Given the description of an element on the screen output the (x, y) to click on. 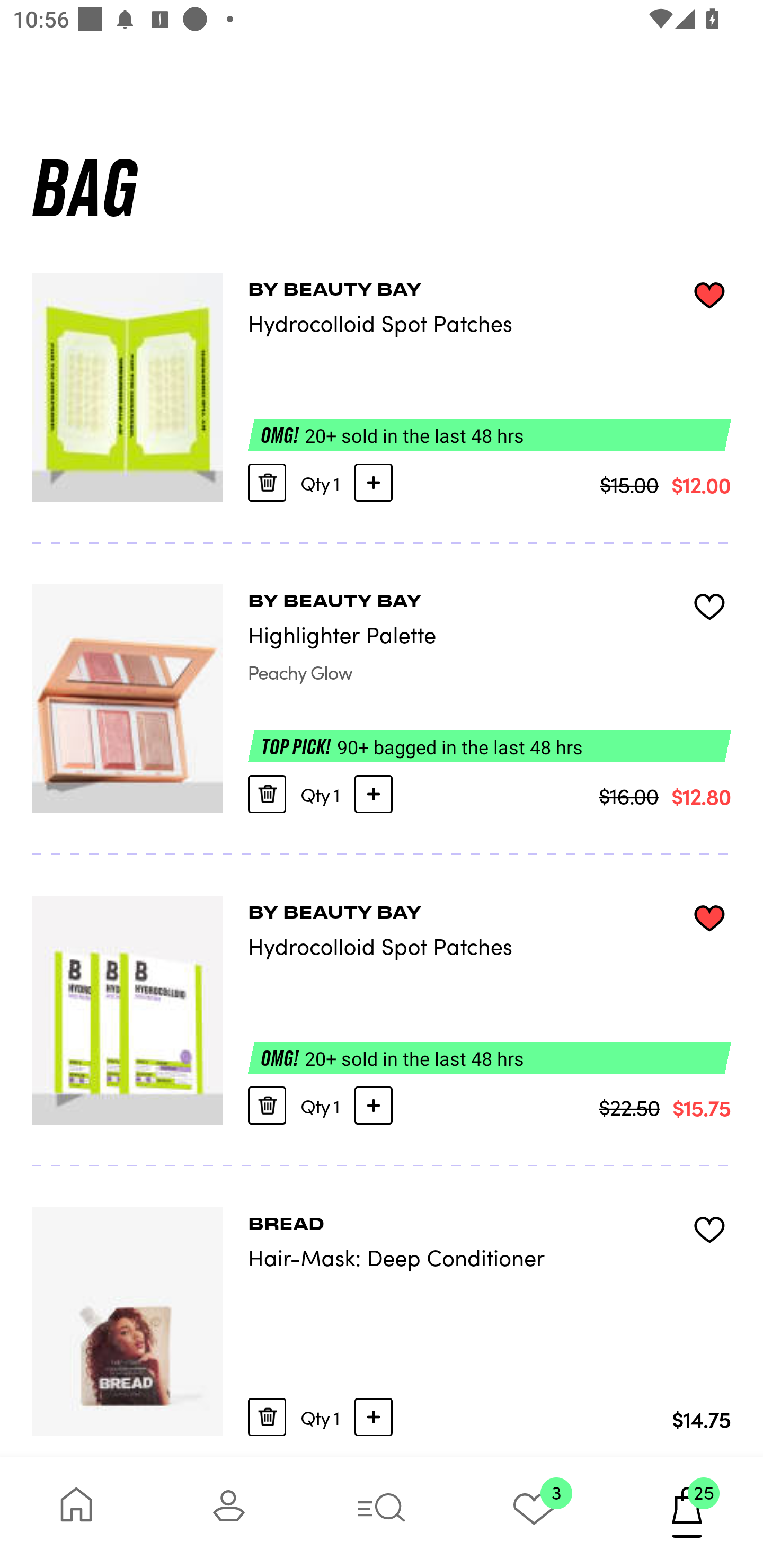
BREAD Hair-Mask: Deep Conditioner Qty 1 $14.75 (381, 1311)
3 (533, 1512)
25 (686, 1512)
